Given the description of an element on the screen output the (x, y) to click on. 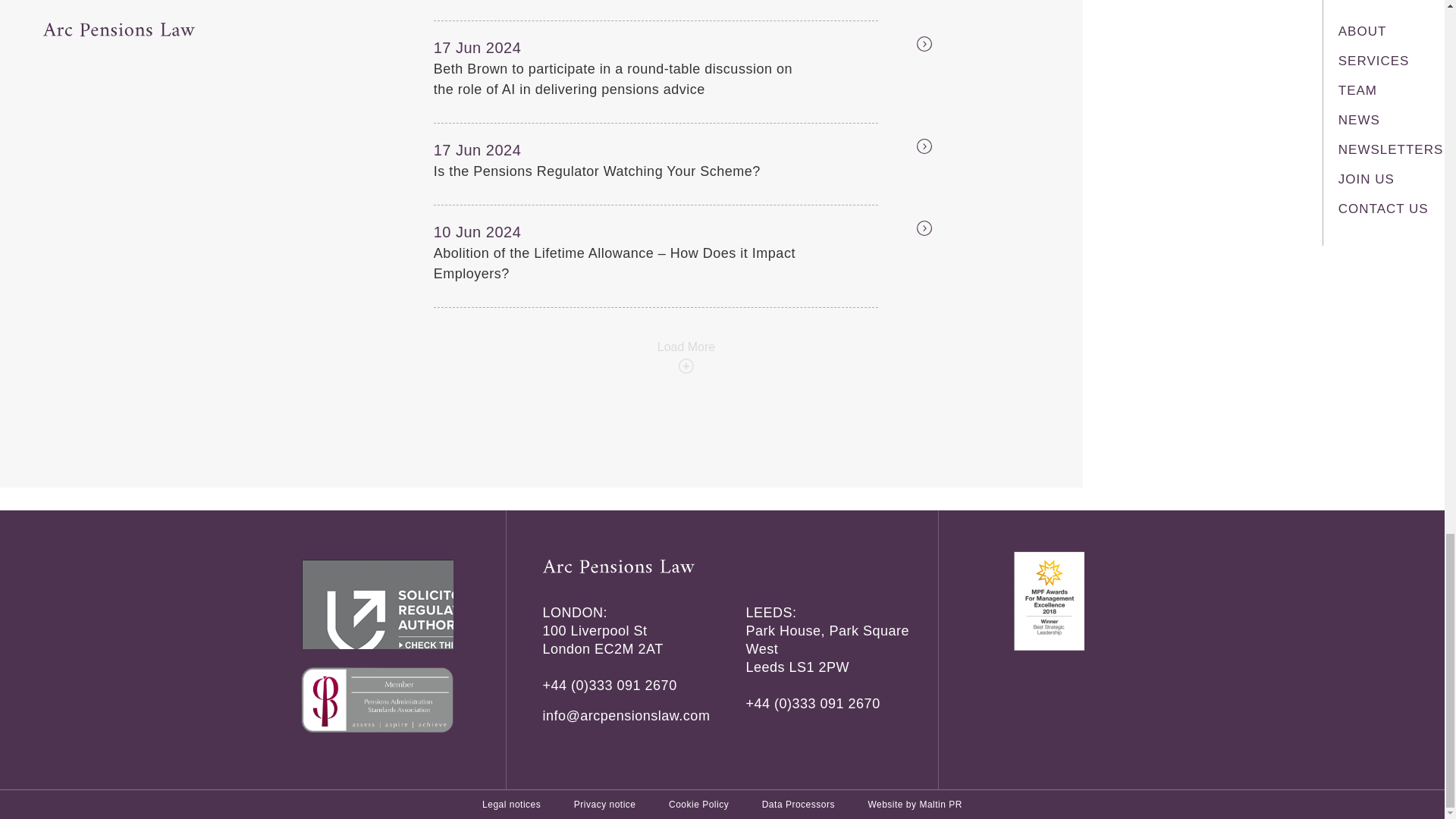
17 Jun 2024 (506, 47)
Go (907, 46)
Is the Pensions Regulator Watching Your Scheme? (622, 171)
17 Jun 2024 (506, 149)
